Given the description of an element on the screen output the (x, y) to click on. 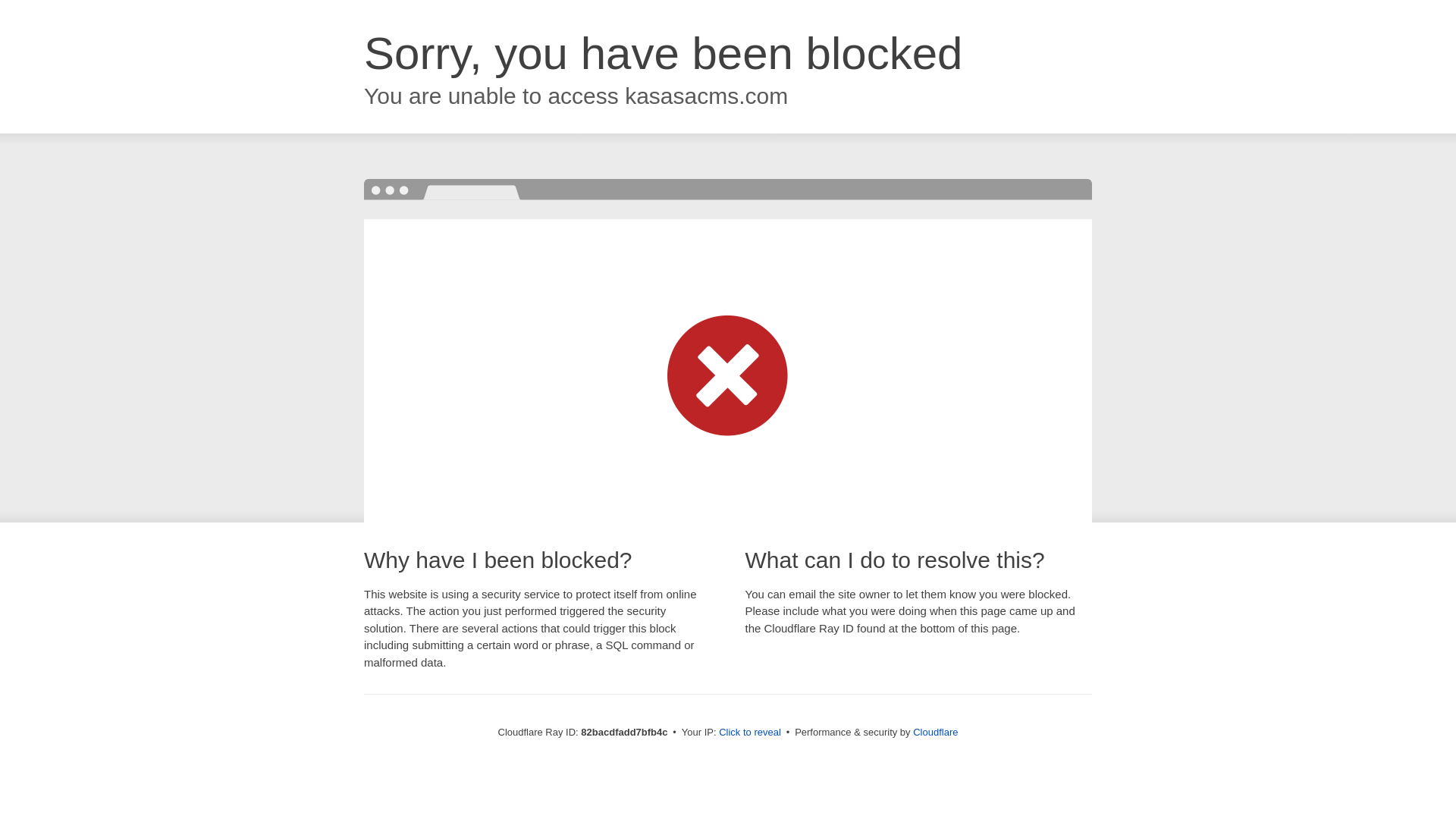
Click to reveal Element type: text (749, 732)
Cloudflare Element type: text (935, 731)
